Given the description of an element on the screen output the (x, y) to click on. 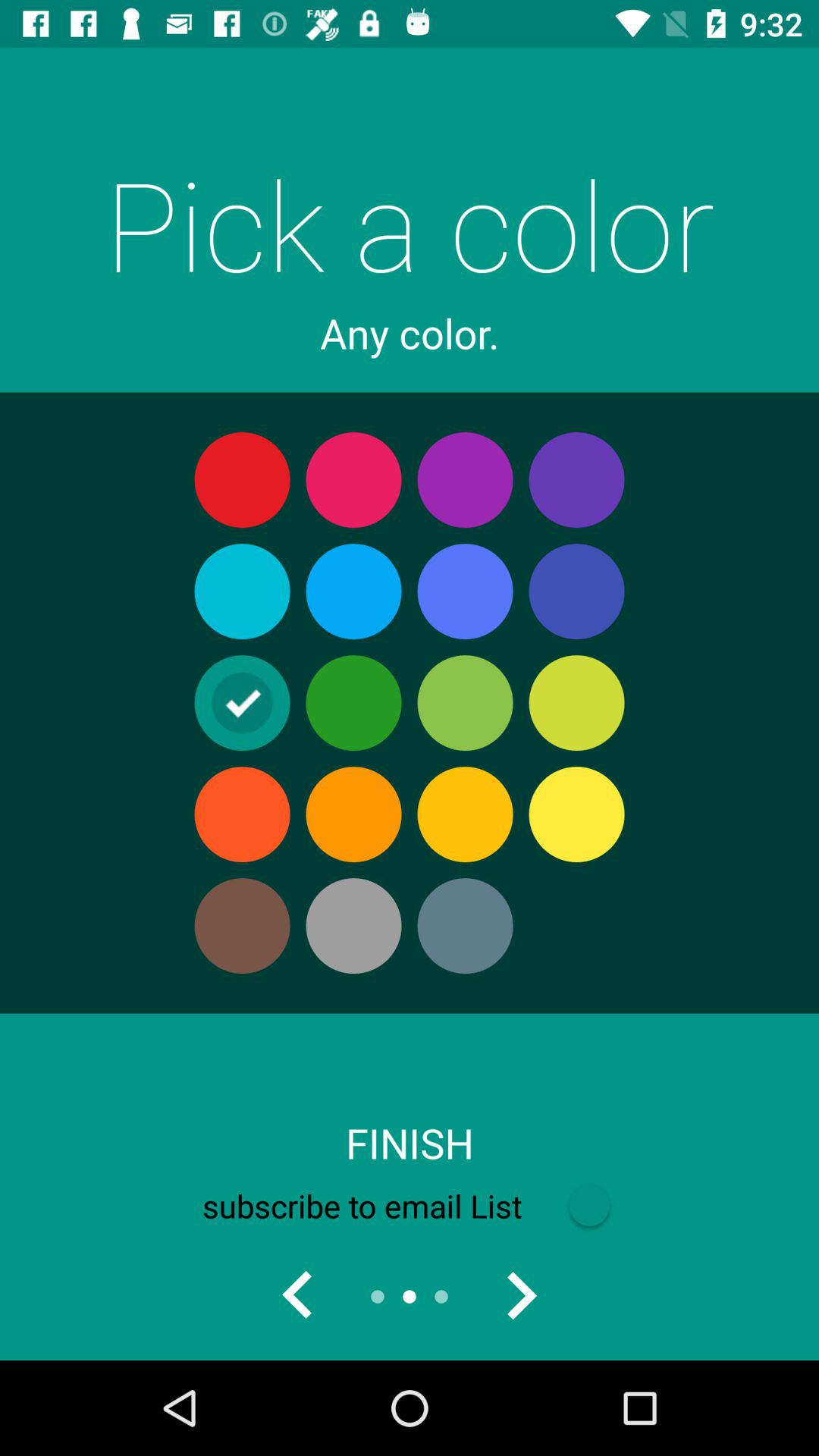
go back (297, 1296)
